Given the description of an element on the screen output the (x, y) to click on. 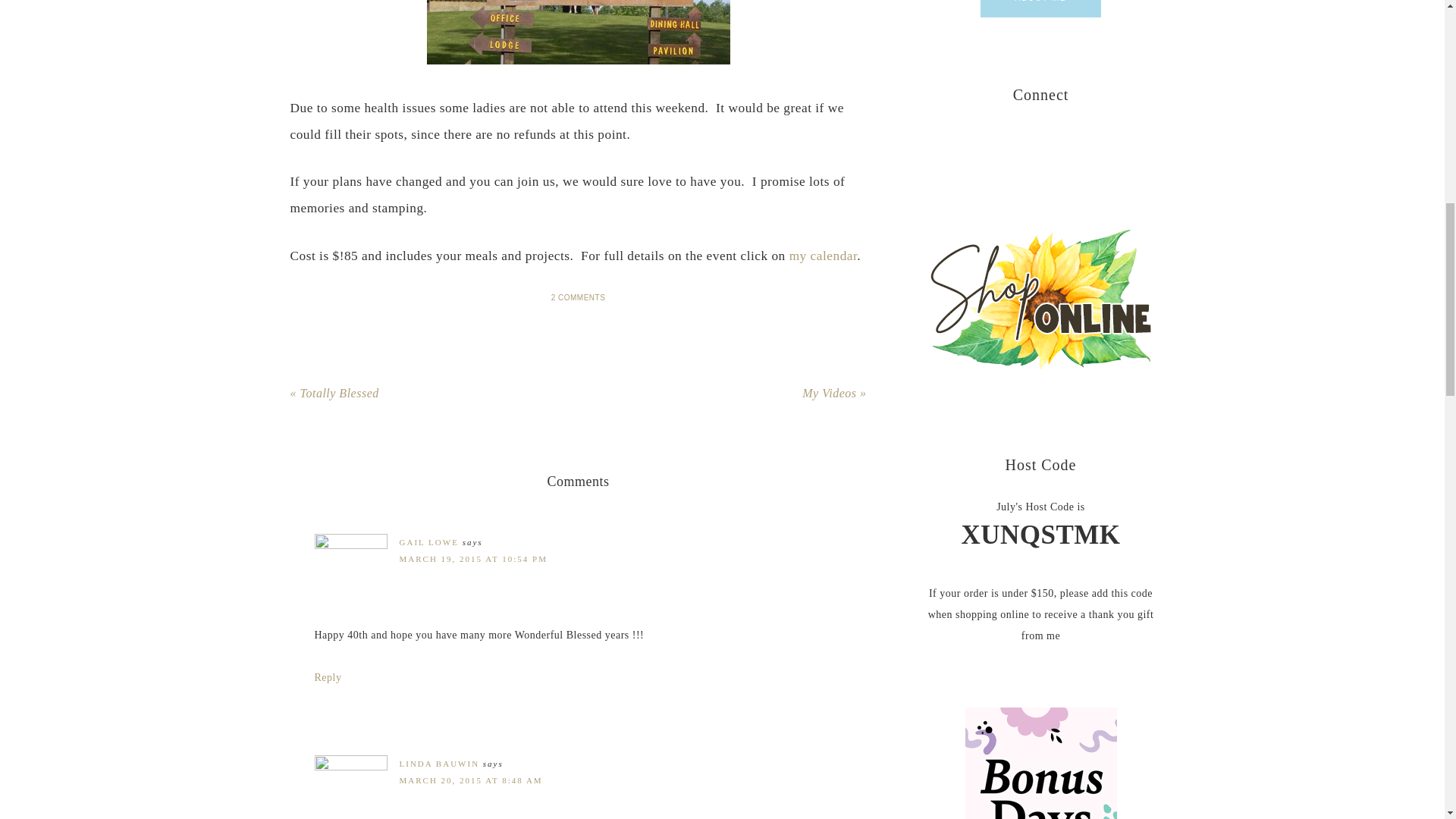
GAIL LOWE (428, 542)
LINDA BAUWIN (438, 763)
MARCH 19, 2015 AT 10:54 PM (472, 558)
2 COMMENTS (578, 297)
Camp judson (577, 32)
my calendar (823, 255)
ABOUT ME (1039, 8)
MARCH 20, 2015 AT 8:48 AM (469, 779)
Reply (327, 677)
